Given the description of an element on the screen output the (x, y) to click on. 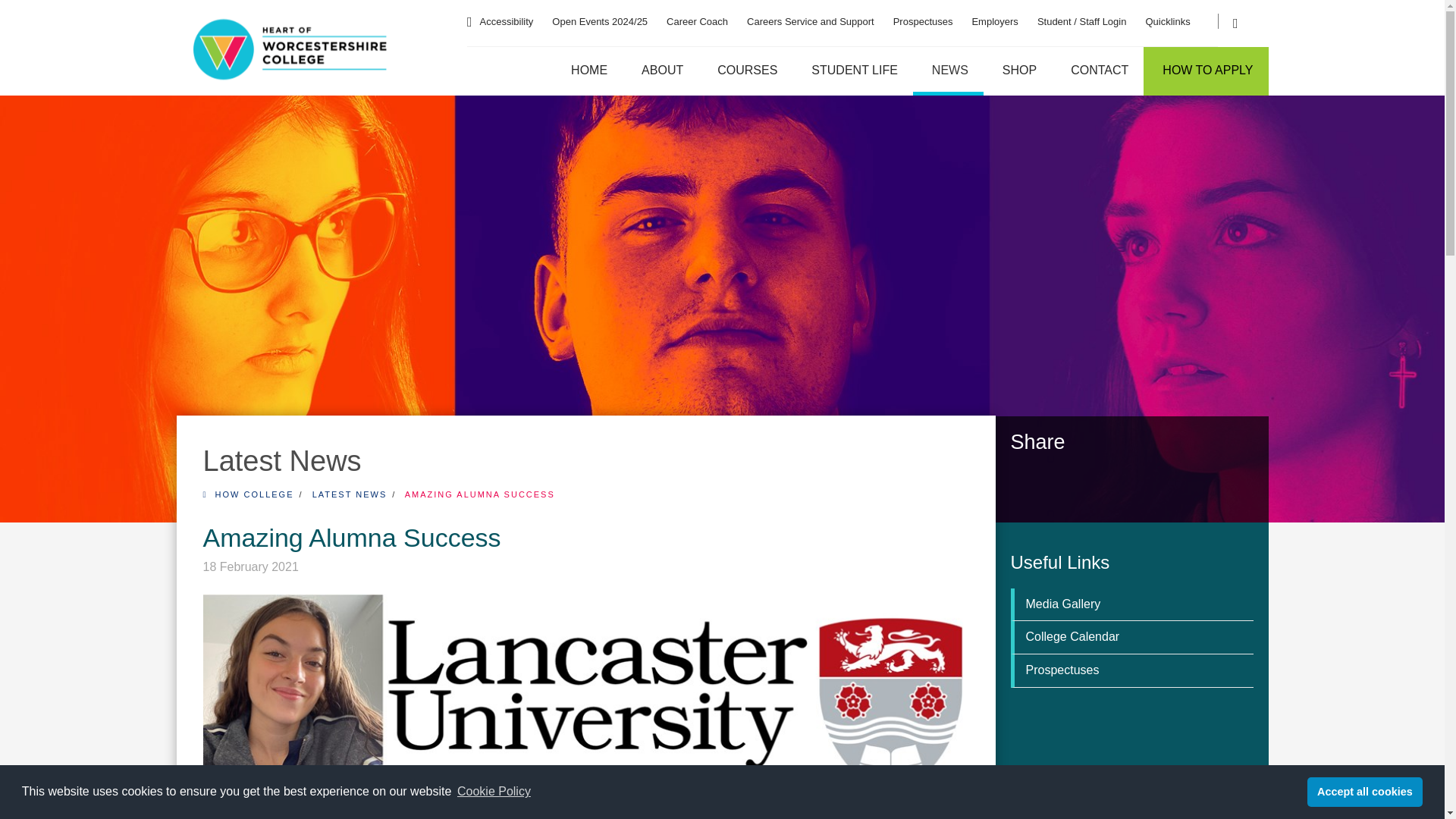
Employers (994, 14)
Employers (994, 14)
Quicklinks (1166, 14)
COURSES (745, 70)
Prospectuses (923, 14)
Quicklinks (1166, 14)
HOME (587, 70)
About (660, 70)
Heart of Worcestershire College - Return to Homepage (289, 52)
Cookie Policy (493, 791)
ABOUT (660, 70)
Career Coach (697, 14)
Accept all cookies (1365, 791)
Accessibility (507, 14)
Careers Service and Support (810, 14)
